Given the description of an element on the screen output the (x, y) to click on. 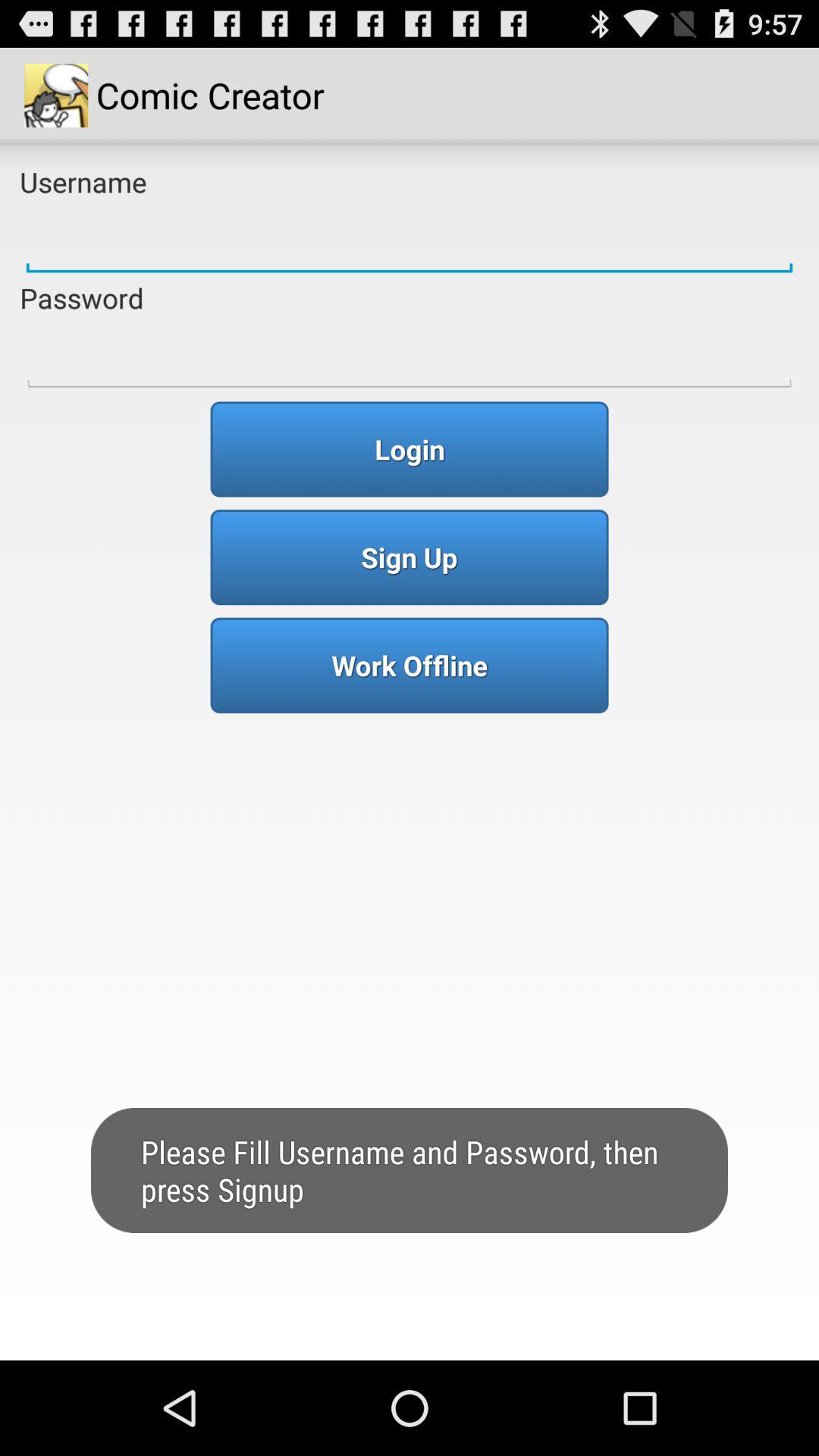
user name (409, 239)
